Given the description of an element on the screen output the (x, y) to click on. 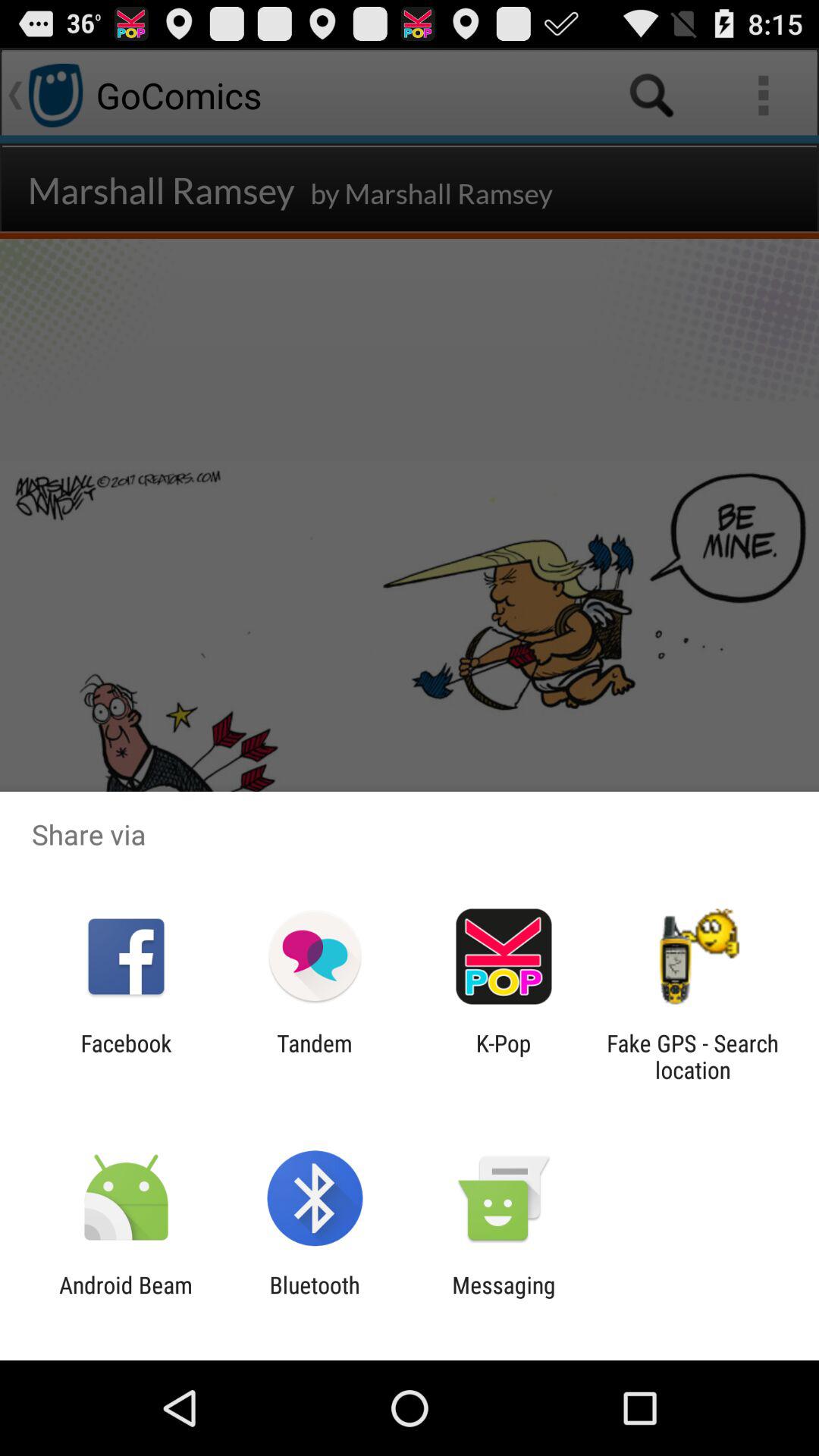
open item to the left of bluetooth app (125, 1298)
